Given the description of an element on the screen output the (x, y) to click on. 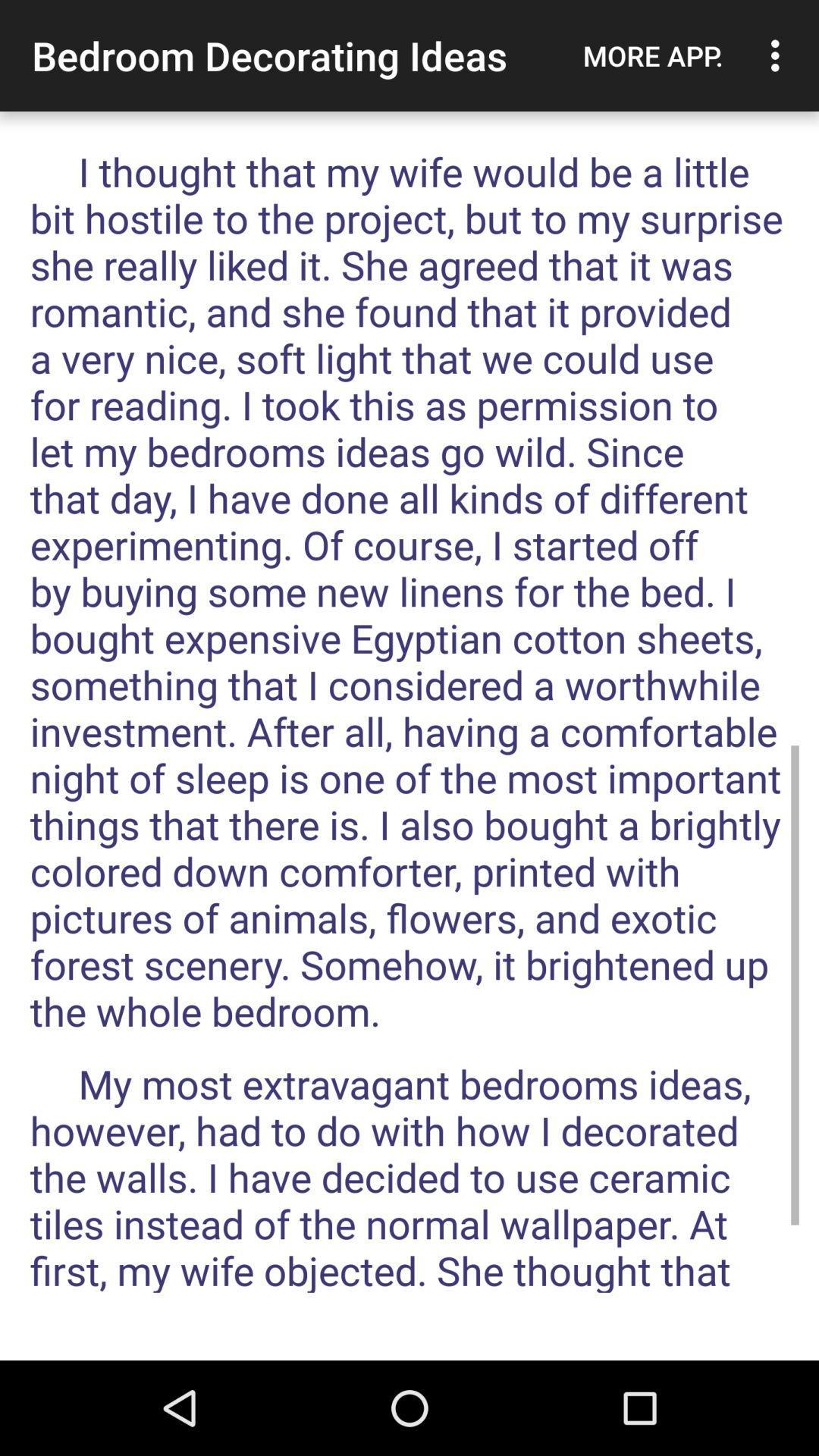
open item to the right of the more app. (779, 55)
